Given the description of an element on the screen output the (x, y) to click on. 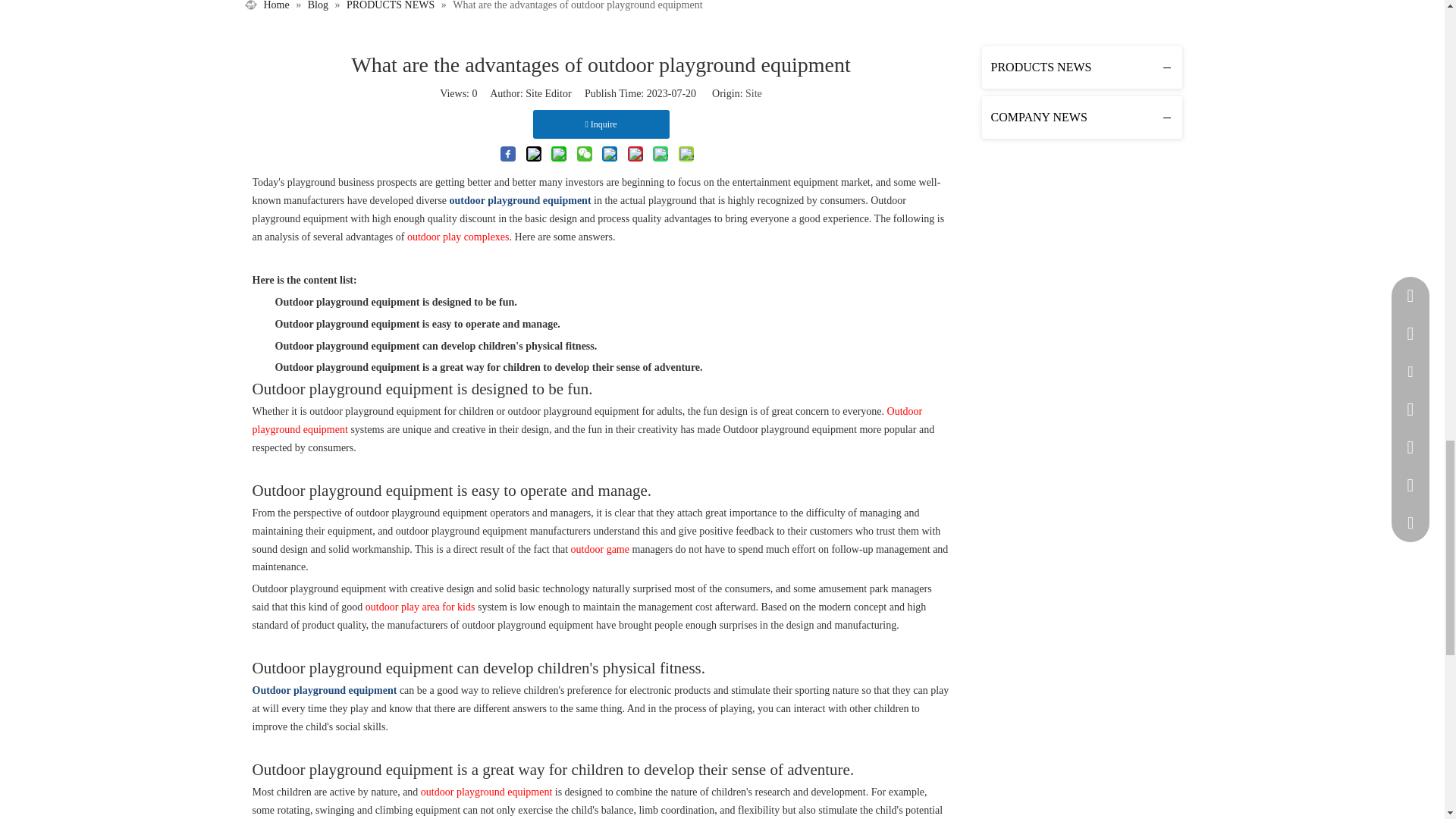
PRODUCTS NEWS (1080, 66)
COMPANY NEWS (1080, 117)
